Given the description of an element on the screen output the (x, y) to click on. 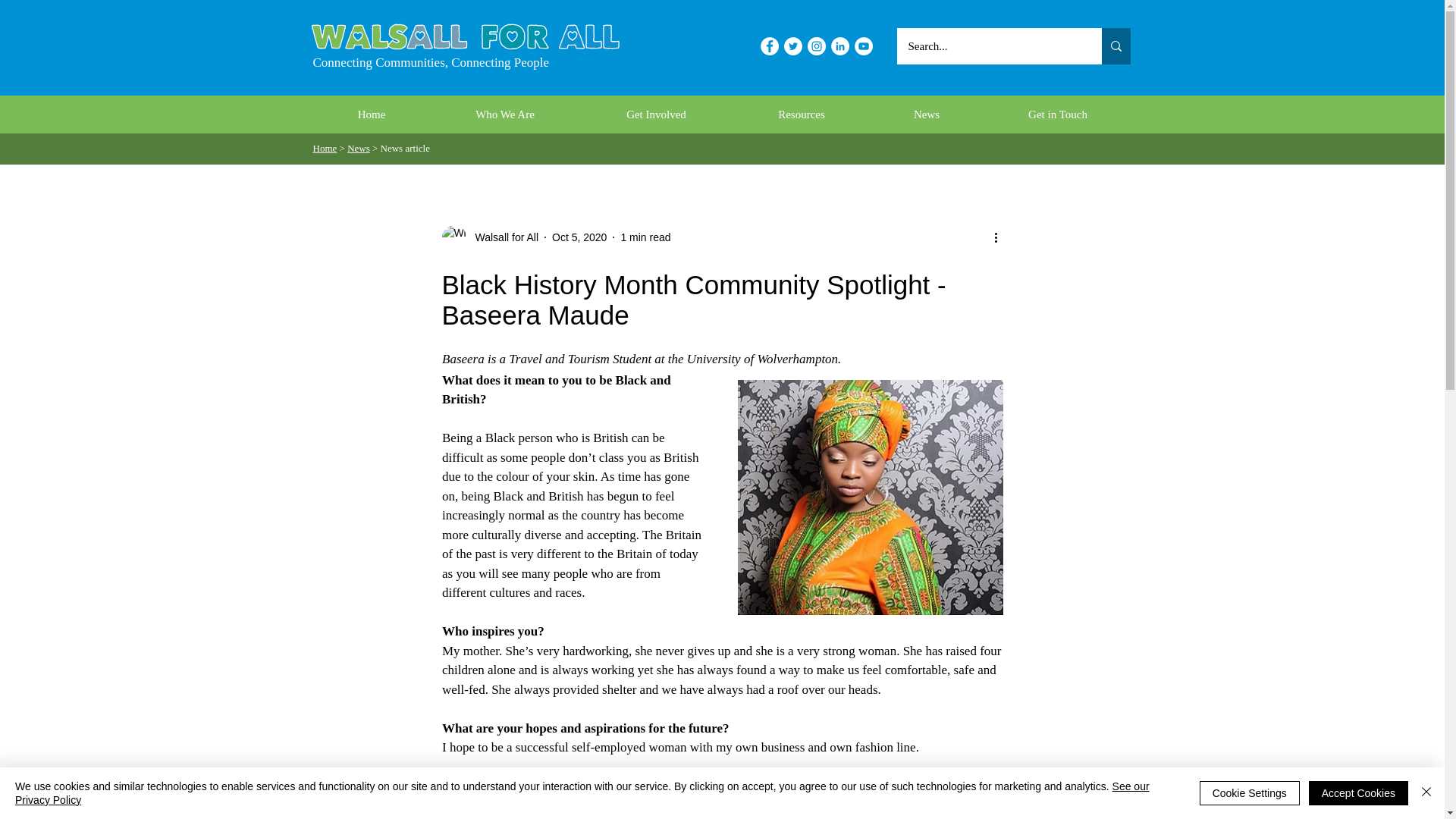
Get Involved (656, 114)
Walsall for All (501, 236)
News (358, 147)
Home (371, 114)
Oct 5, 2020 (579, 236)
Connecting Communities, Connecting People (430, 62)
Accessibility Menu (21, 798)
Who We Are (504, 114)
Get in Touch (1056, 114)
Home (324, 147)
News (925, 114)
1 min read (644, 236)
Resources (800, 114)
